Given the description of an element on the screen output the (x, y) to click on. 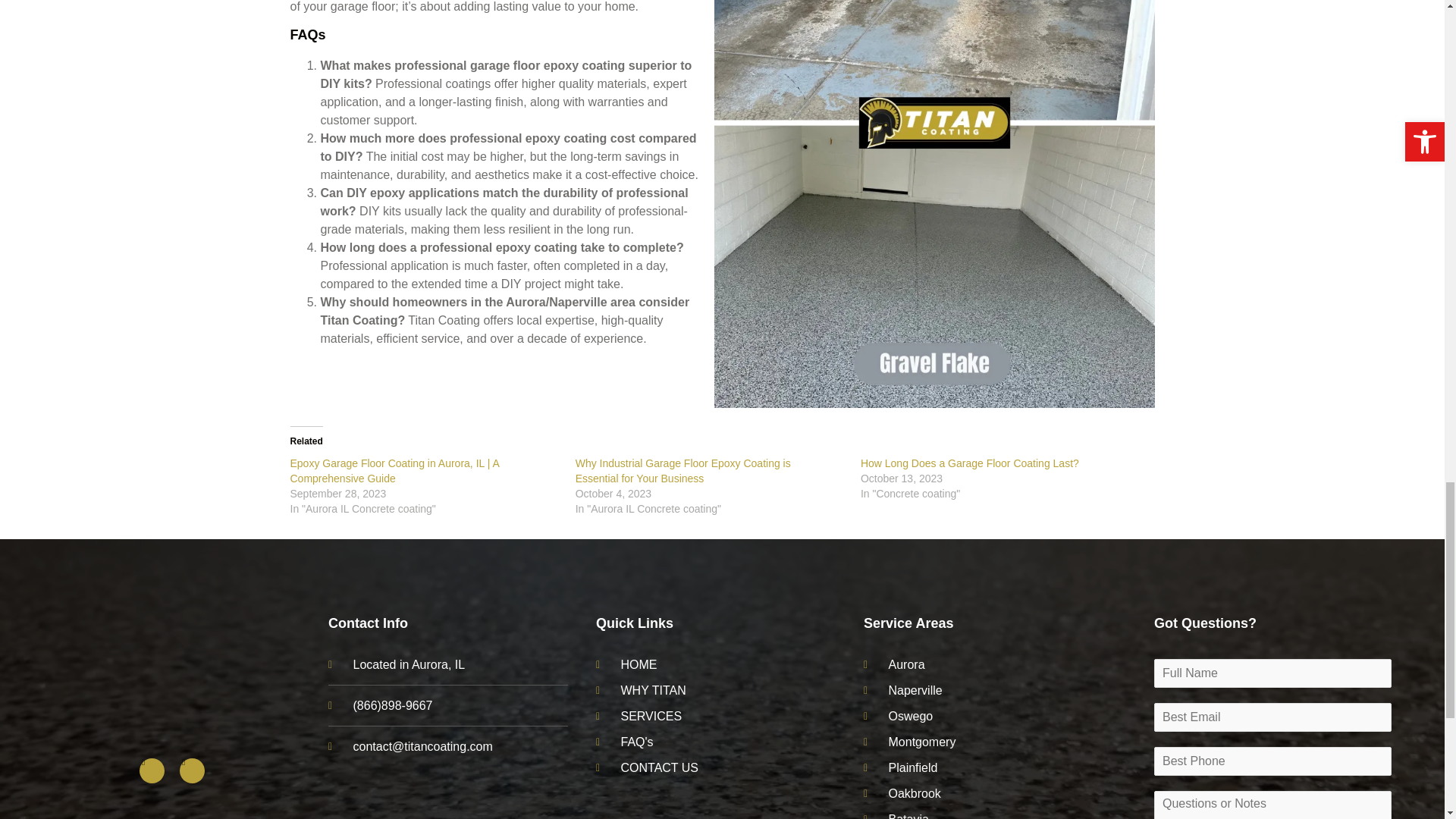
How Long Does a Garage Floor Coating Last? (969, 463)
How Long Does a Garage Floor Coating Last? (969, 463)
